Given the description of an element on the screen output the (x, y) to click on. 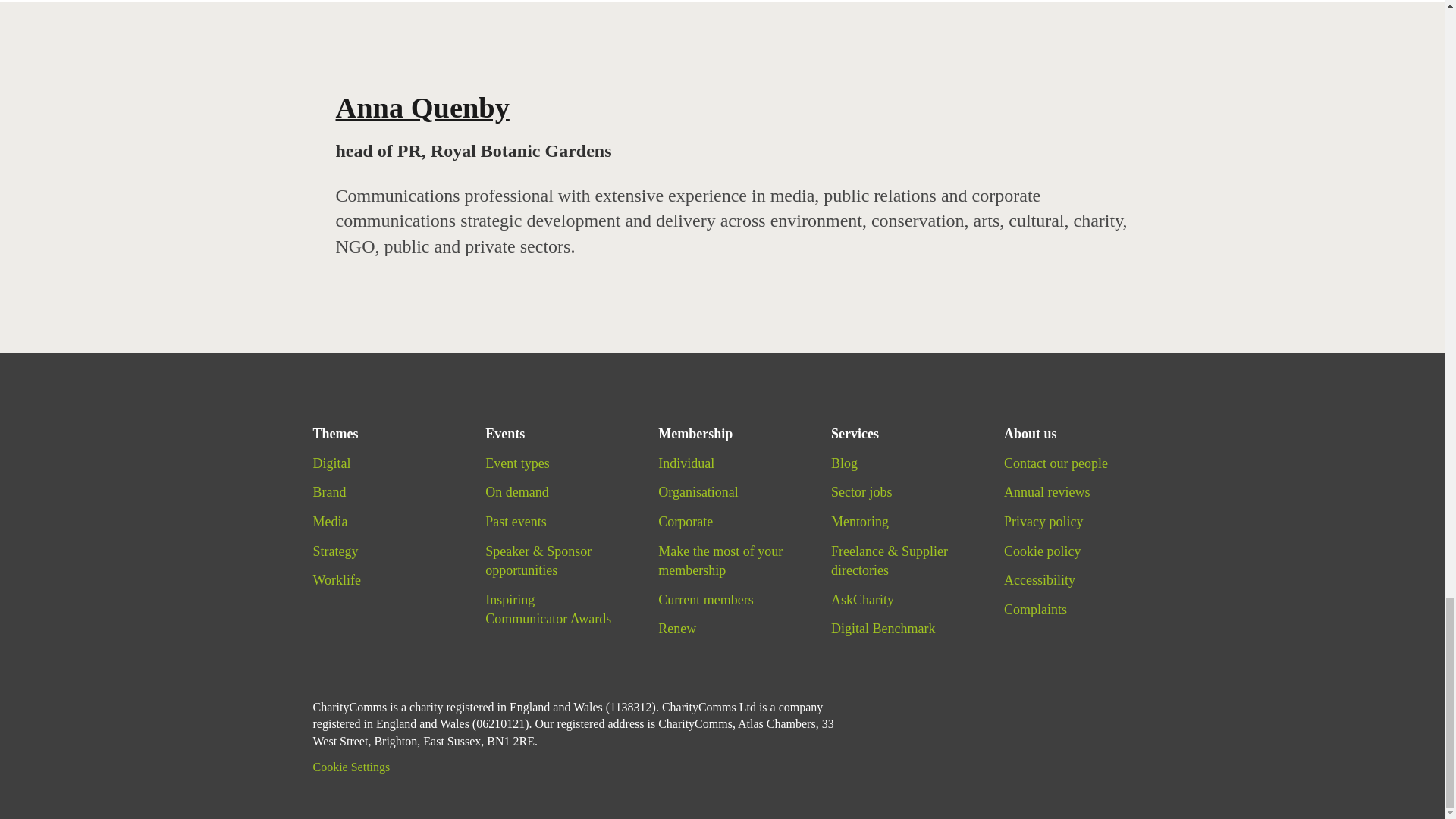
Facebook (1029, 700)
eNews (948, 700)
LinkedIn (1111, 700)
Twitter (989, 700)
Podcast (908, 700)
YouTube (1070, 700)
